Given the description of an element on the screen output the (x, y) to click on. 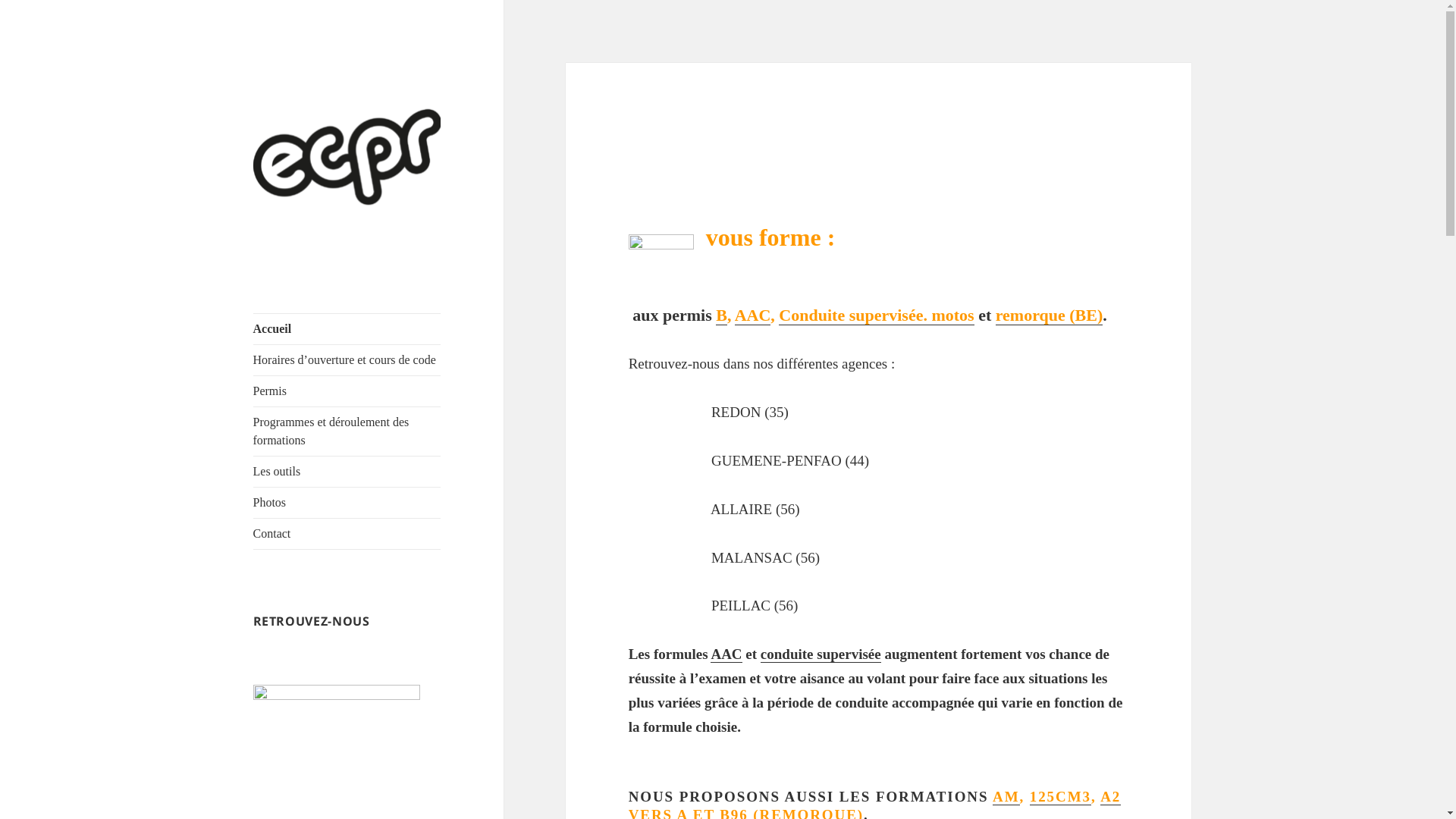
B Element type: text (721, 315)
Contact Element type: text (347, 533)
Accueil Element type: text (347, 328)
motos Element type: text (952, 315)
remorque (BE) Element type: text (1049, 315)
125CM3 Element type: text (1060, 796)
Photos Element type: text (347, 502)
AAC Element type: text (752, 315)
AAC Element type: text (725, 654)
Les outils Element type: text (347, 471)
AM Element type: text (1005, 796)
Permis Element type: text (347, 391)
